Given the description of an element on the screen output the (x, y) to click on. 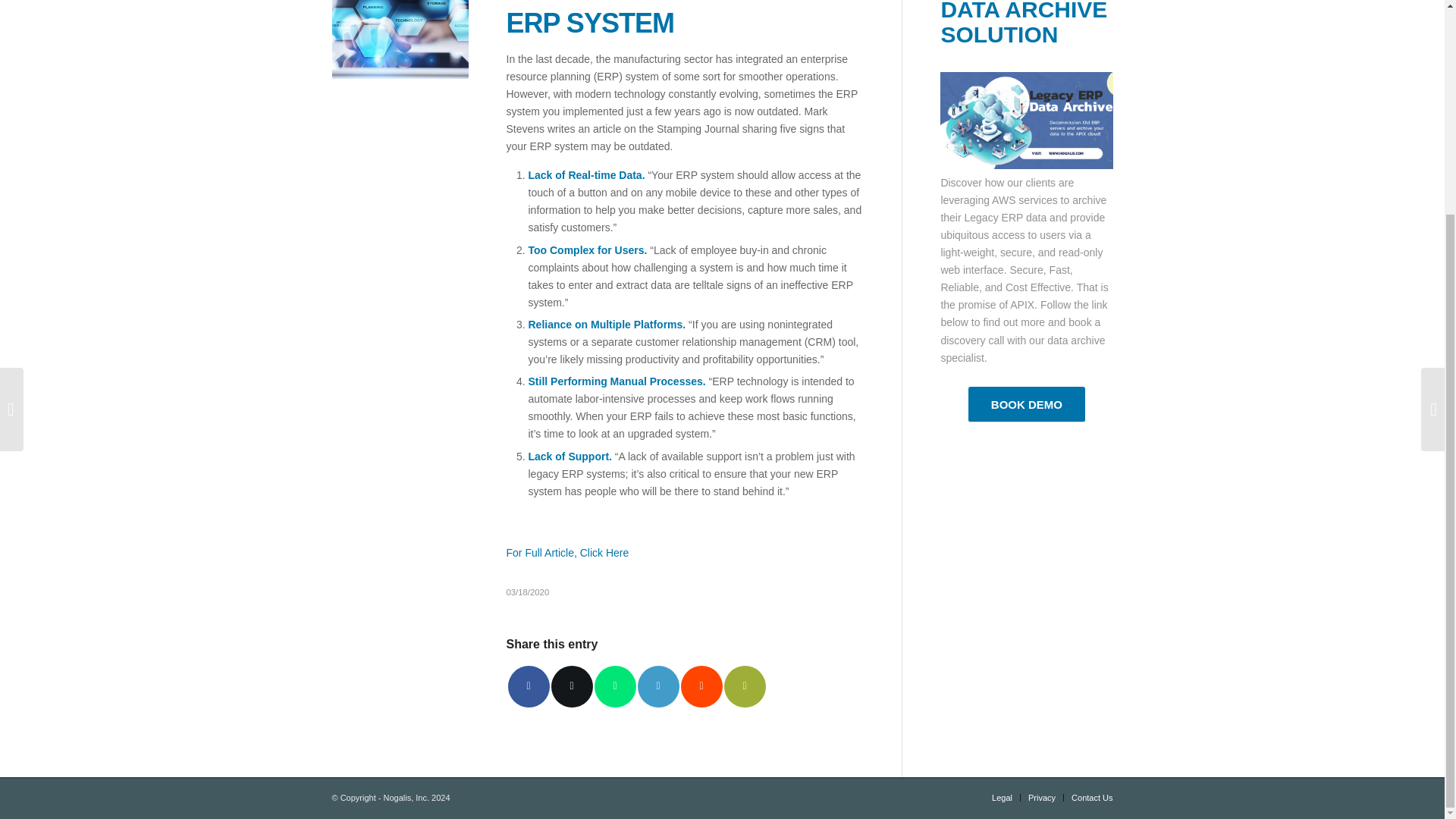
erp-it-cloud (399, 39)
Legal (1001, 797)
For Full Article, Click Here (567, 552)
BOOK DEMO (1026, 404)
Privacy (1041, 797)
Contact Us (1091, 797)
Book a time to discuss your project with an expert (1026, 404)
LEGACY ERP DATA ARCHIVE SOLUTION (1023, 23)
